Given the description of an element on the screen output the (x, y) to click on. 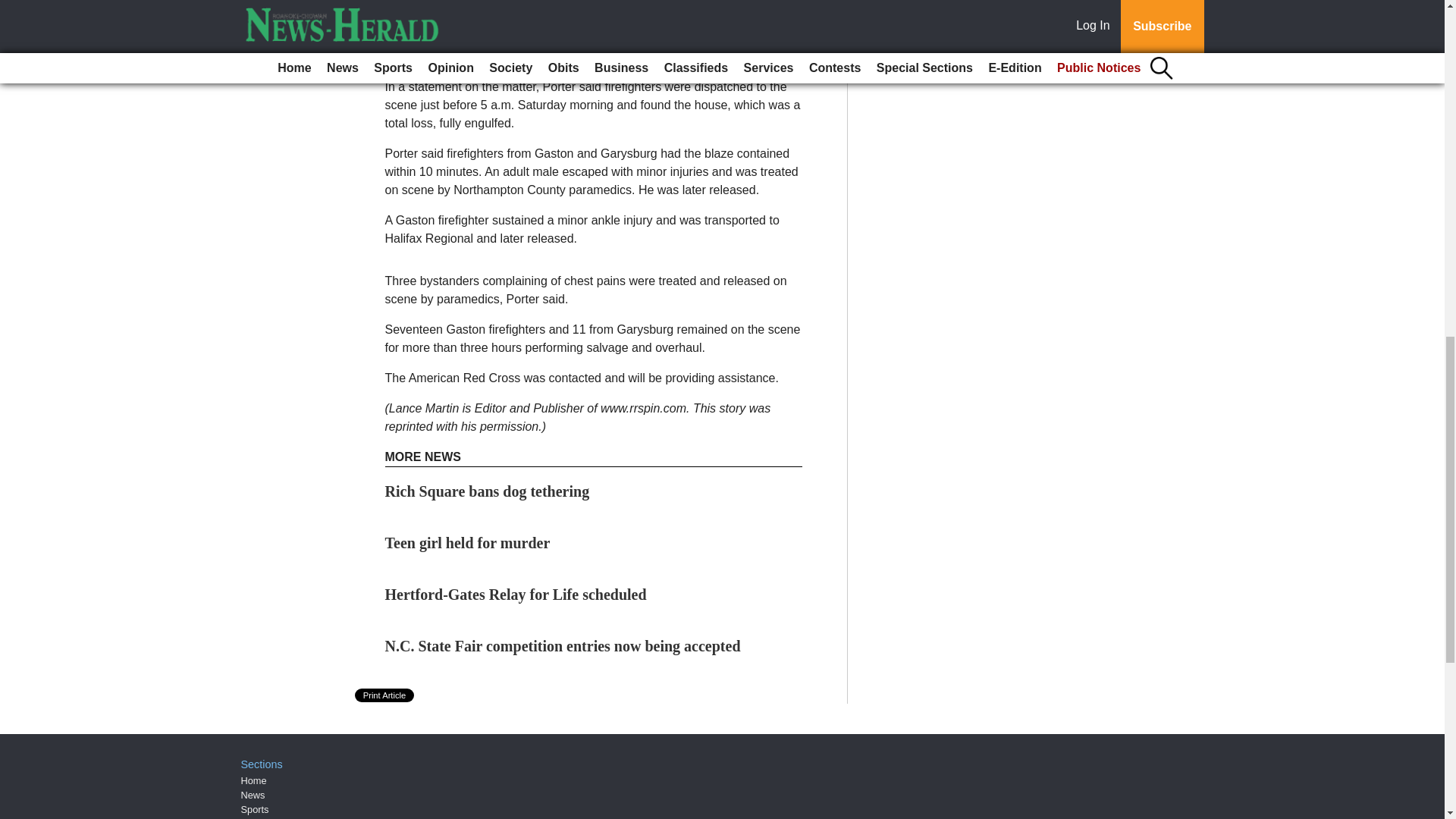
N.C. State Fair competition entries now being accepted (563, 646)
Hertford-Gates Relay for Life scheduled (515, 594)
Teen girl held for murder (467, 542)
Rich Square bans dog tethering (487, 491)
Hertford-Gates Relay for Life scheduled (515, 594)
Teen girl held for murder (467, 542)
Rich Square bans dog tethering (487, 491)
N.C. State Fair competition entries now being accepted (563, 646)
Print Article (384, 694)
